Given the description of an element on the screen output the (x, y) to click on. 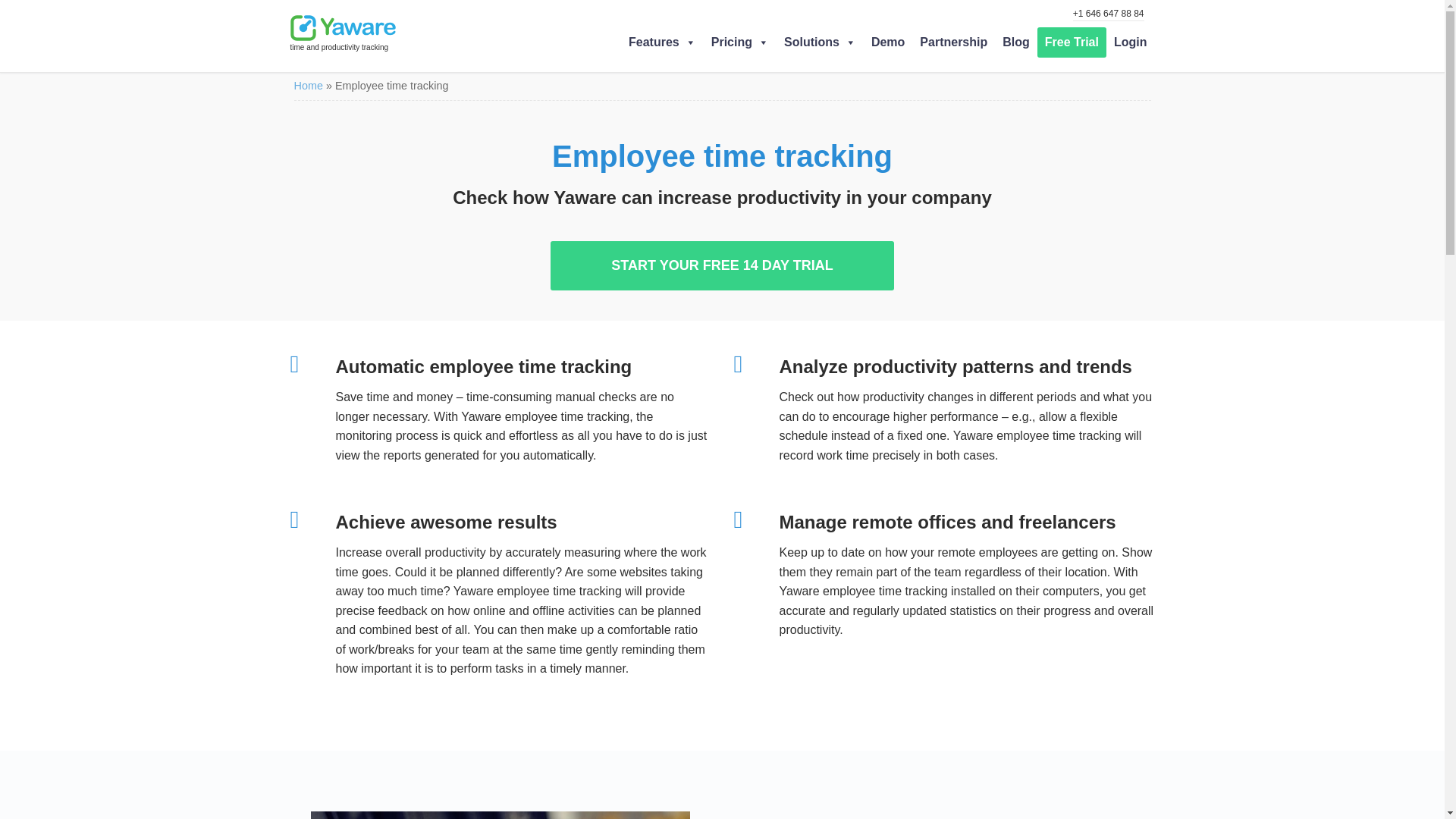
Pricing (739, 42)
Solutions (819, 42)
Features (662, 42)
Start your Yaware.TimeManager 14-days FREE TRIAL now! (1071, 42)
